Given the description of an element on the screen output the (x, y) to click on. 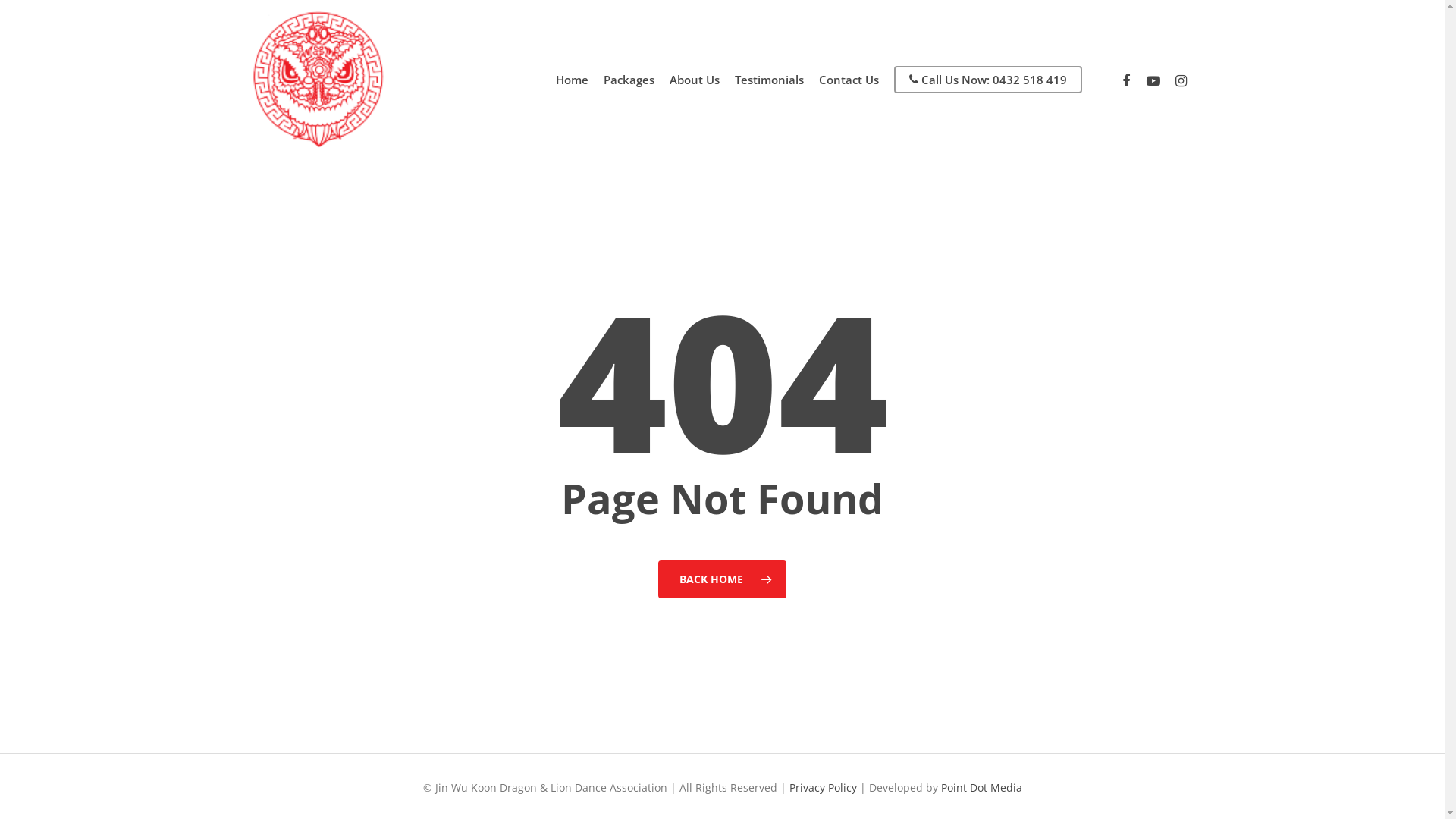
About Us Element type: text (694, 79)
Contact Us Element type: text (848, 79)
Testimonials Element type: text (769, 79)
Point Dot Media Element type: text (980, 787)
Packages Element type: text (629, 79)
Call Us Now: 0432 518 419 Element type: text (988, 79)
Privacy Policy Element type: text (822, 787)
BACK HOME Element type: text (722, 578)
Home Element type: text (572, 79)
